Given the description of an element on the screen output the (x, y) to click on. 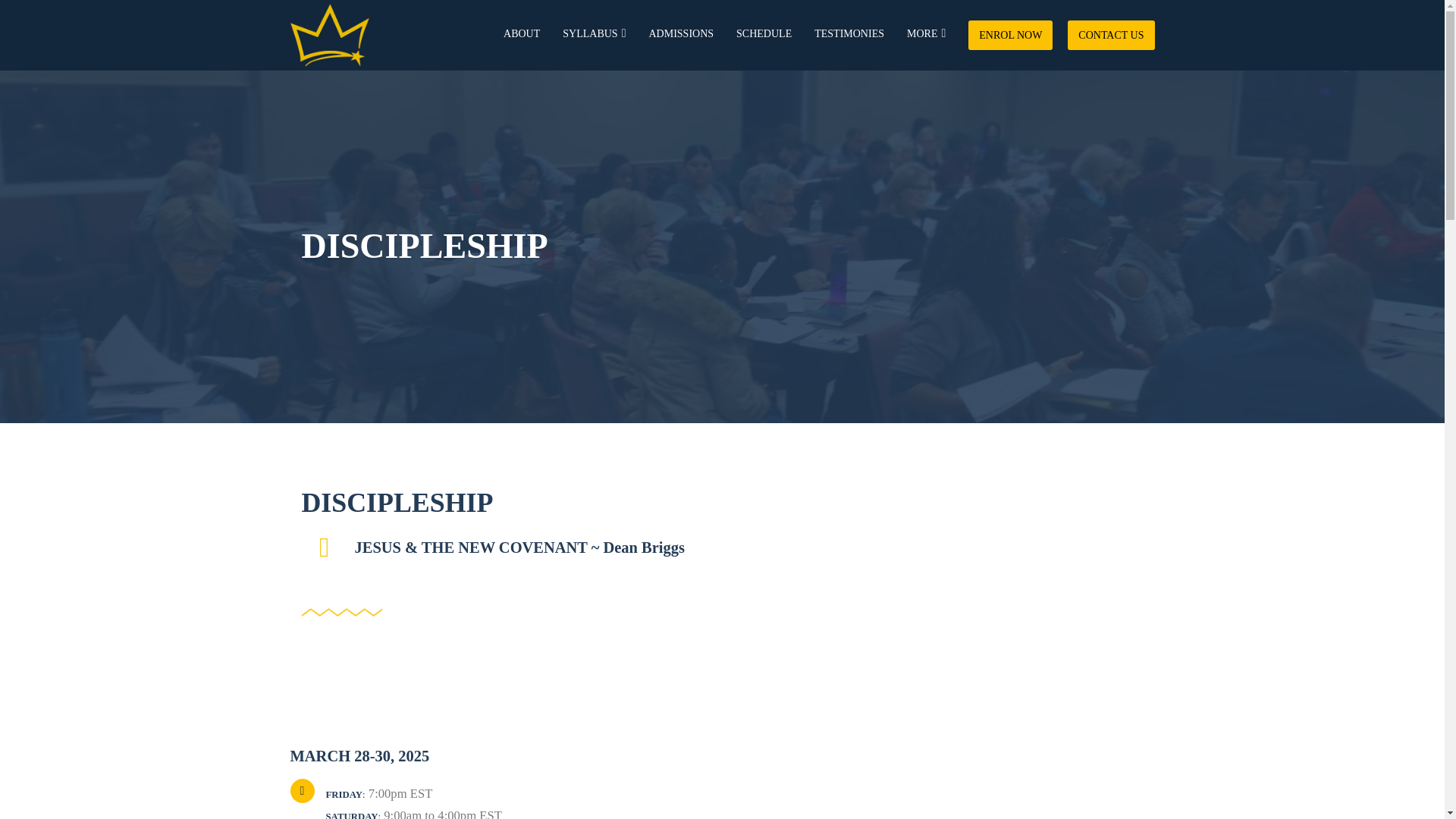
ENROL NOW (1010, 34)
SYLLABUS (594, 34)
MORE (925, 34)
ADMISSIONS (681, 34)
ABOUT (521, 34)
SCHEDULE (764, 34)
TESTIMONIES (848, 34)
CONTACT US (1110, 34)
